Given the description of an element on the screen output the (x, y) to click on. 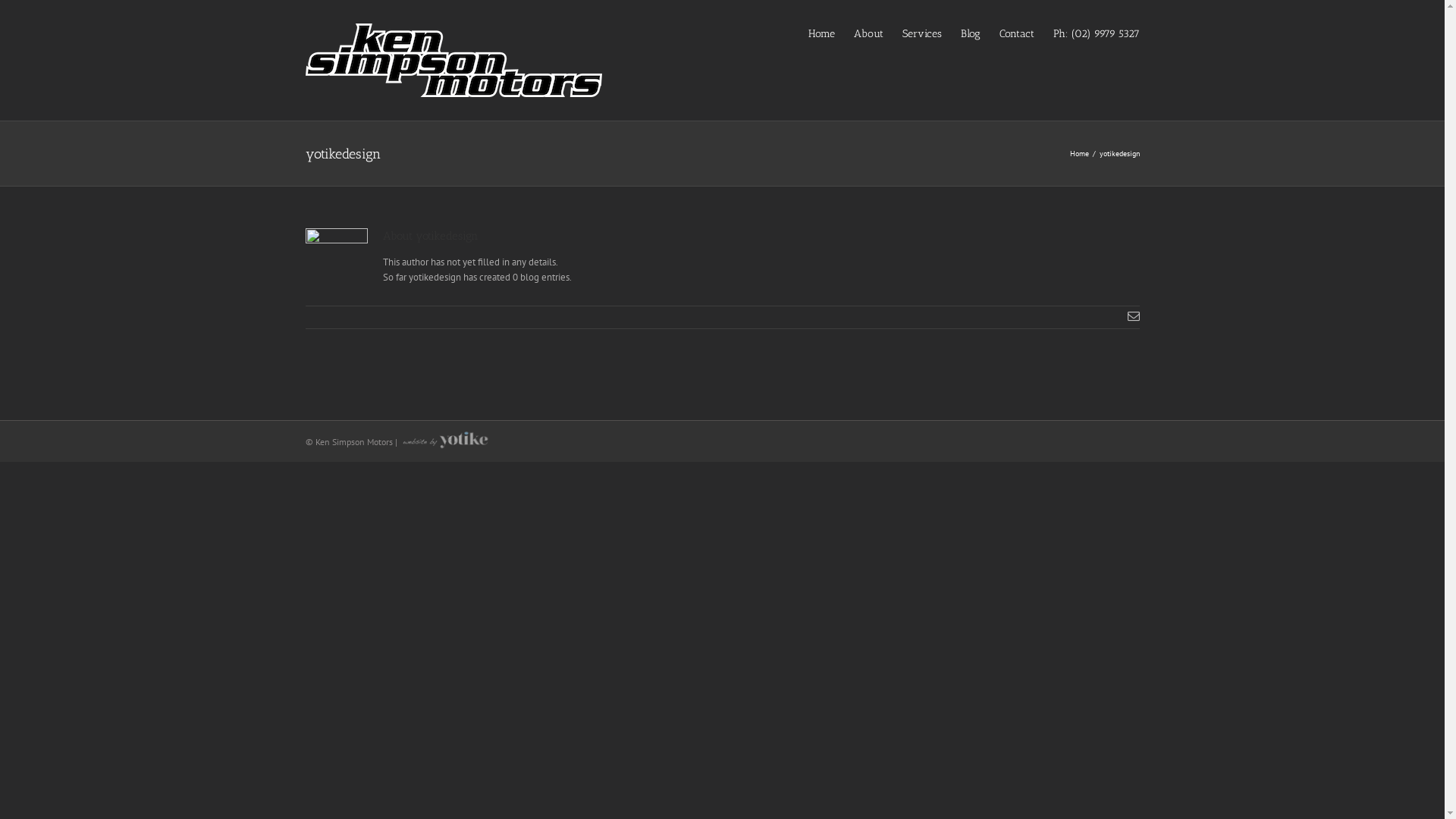
Blog Element type: text (969, 32)
Services Element type: text (921, 32)
Contact Element type: text (1016, 32)
Home Element type: text (821, 32)
Home Element type: text (1078, 153)
About Element type: text (868, 32)
Ph: (02) 9979 5327 Element type: text (1095, 32)
